Given the description of an element on the screen output the (x, y) to click on. 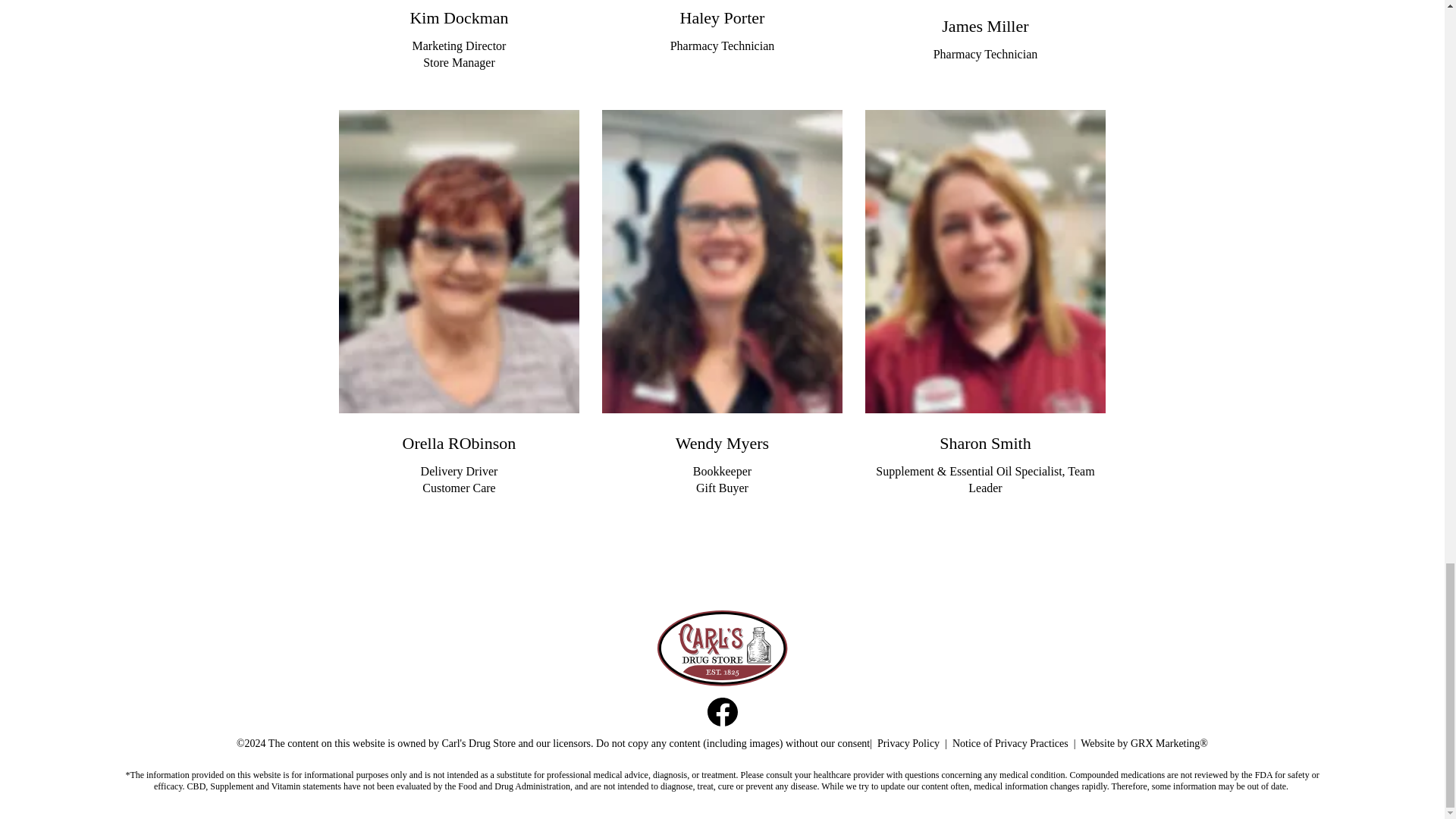
Privacy Policy (908, 743)
Notice of Privacy Practices (1010, 743)
